Given the description of an element on the screen output the (x, y) to click on. 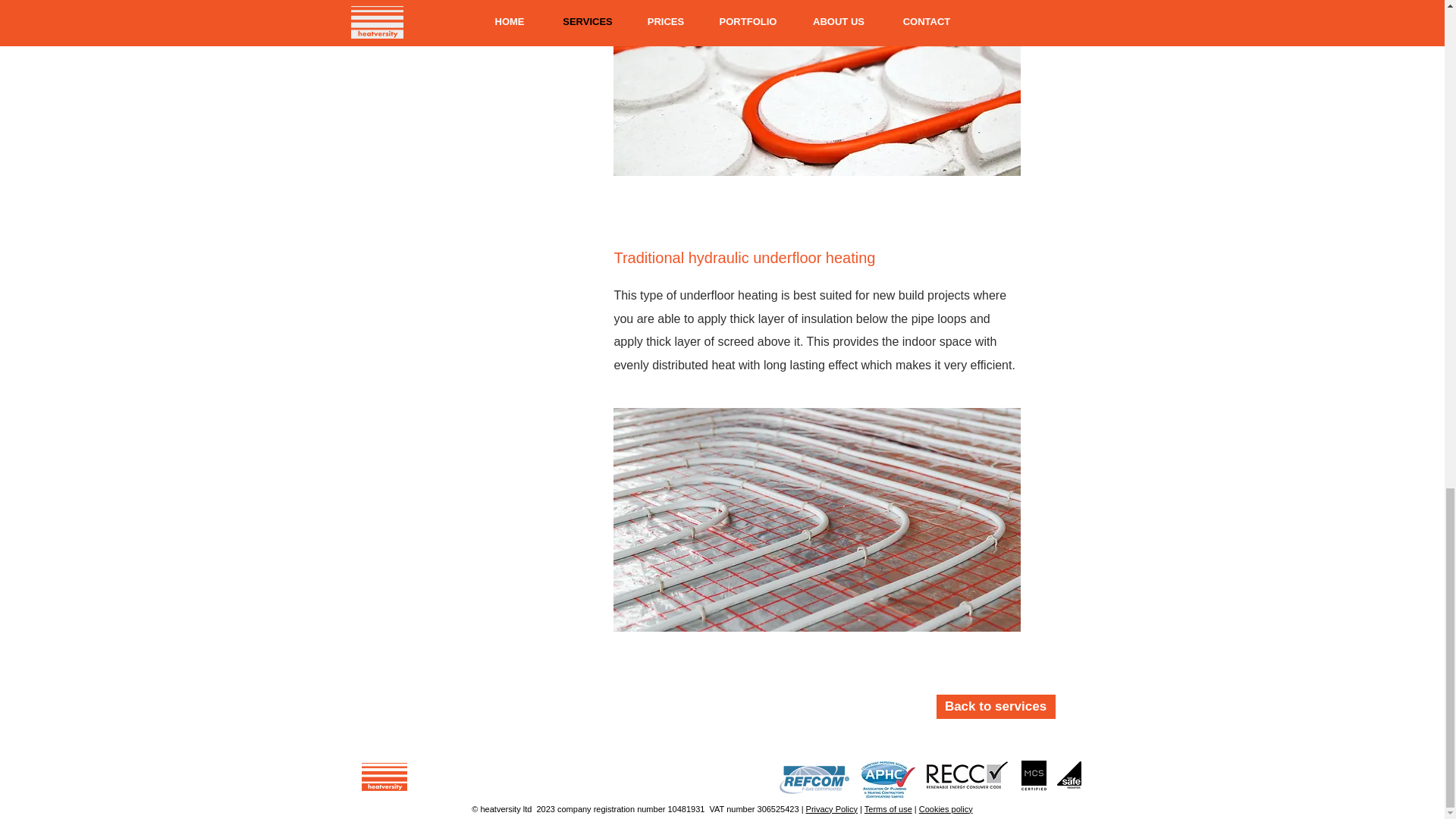
Back to services (995, 706)
Privacy Policy (831, 808)
Terms of use (888, 808)
Cookies policy (945, 808)
